Given the description of an element on the screen output the (x, y) to click on. 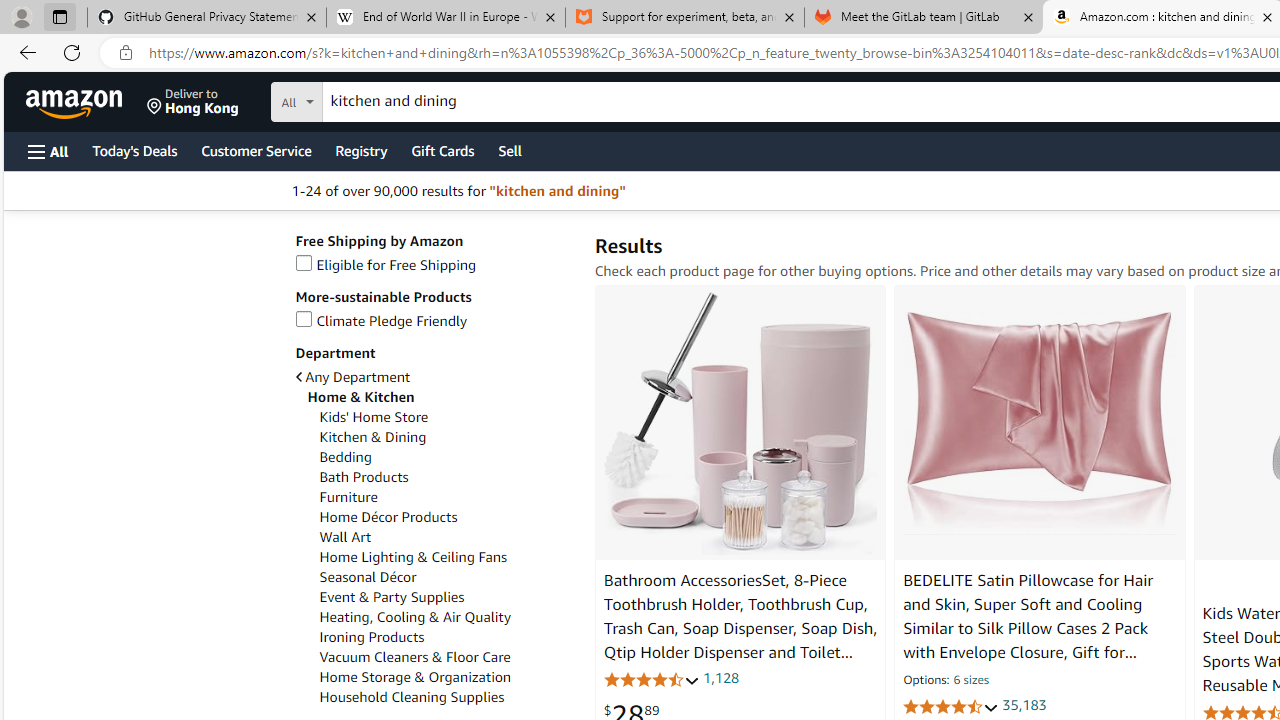
Household Cleaning Supplies (411, 697)
Bath Products (446, 477)
Event & Party Supplies (391, 597)
Home & Kitchen (440, 397)
Bedding (345, 457)
Registry (360, 150)
Open Menu (48, 151)
Deliver to Hong Kong (193, 101)
Kids' Home Store (446, 417)
Furniture (446, 497)
35,183 (1024, 705)
